Given the description of an element on the screen output the (x, y) to click on. 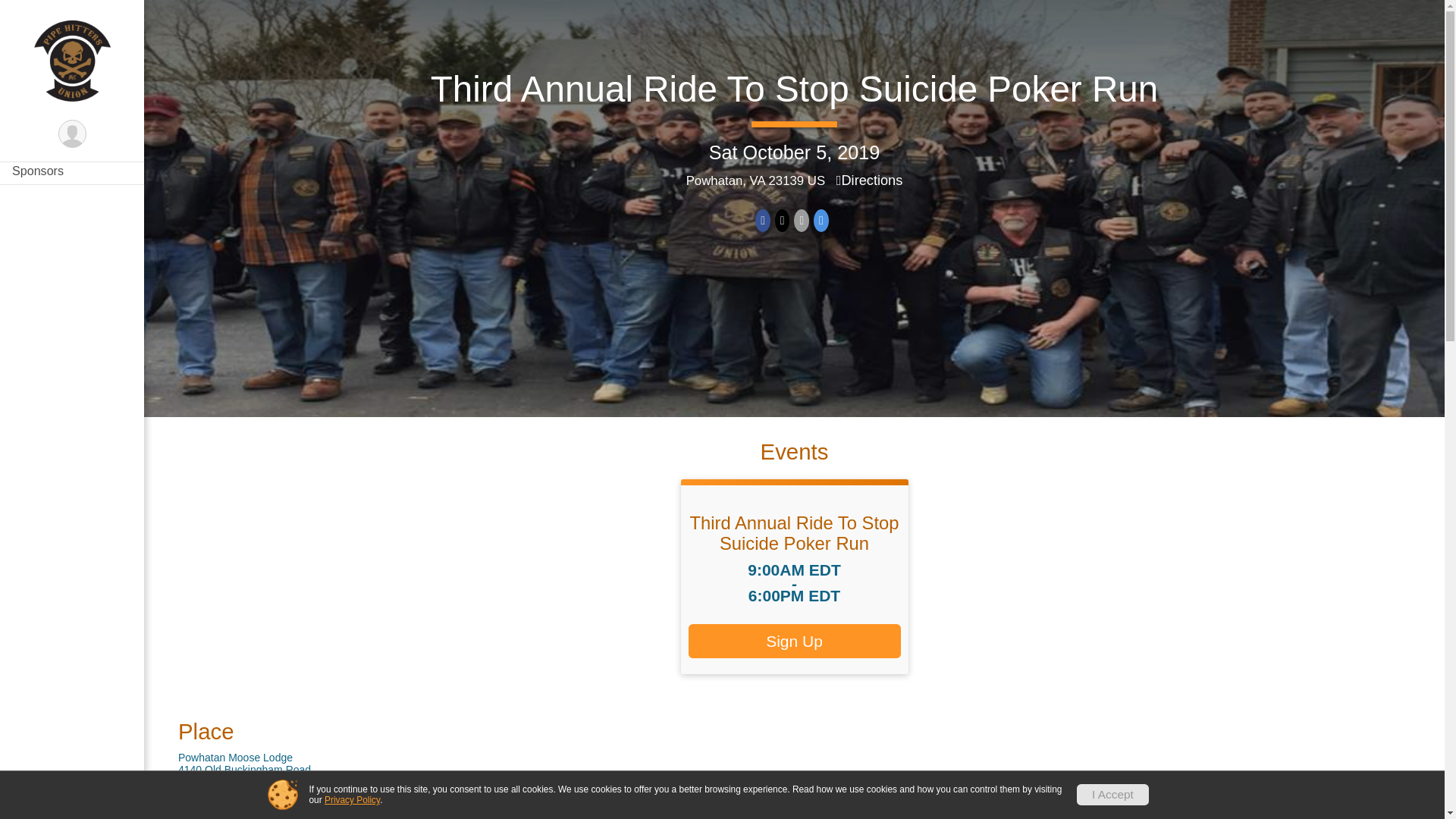
Directions (868, 180)
Ride Info (72, 15)
Sponsors (72, 169)
Refund Policy (72, 138)
Third Annual Ride To Stop Suicide Poker Run (793, 532)
Rider with passengers (72, 77)
Event Info (72, 46)
Third Annual Ride To Stop Suicide Poker Run (794, 88)
Sign Up (794, 641)
Find a Participant (72, 107)
